Given the description of an element on the screen output the (x, y) to click on. 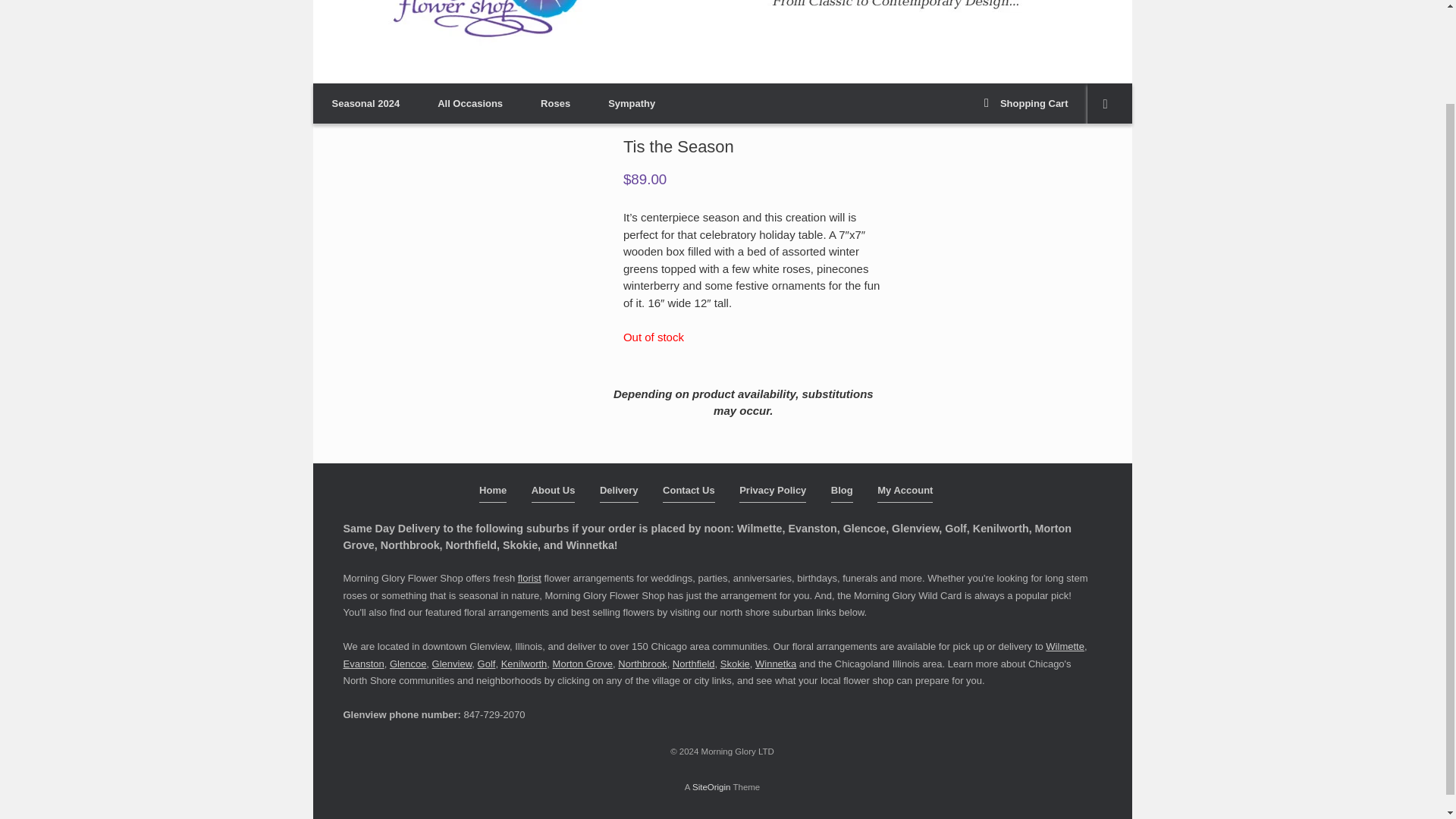
Contact Us (688, 492)
Evanston (363, 663)
Northfield (693, 663)
Morning Glory Flower Shop (467, 24)
All Occasions (470, 103)
About Us (553, 492)
Northbrook (641, 663)
Privacy Policy (772, 492)
florist (529, 577)
Glenview (451, 663)
